Given the description of an element on the screen output the (x, y) to click on. 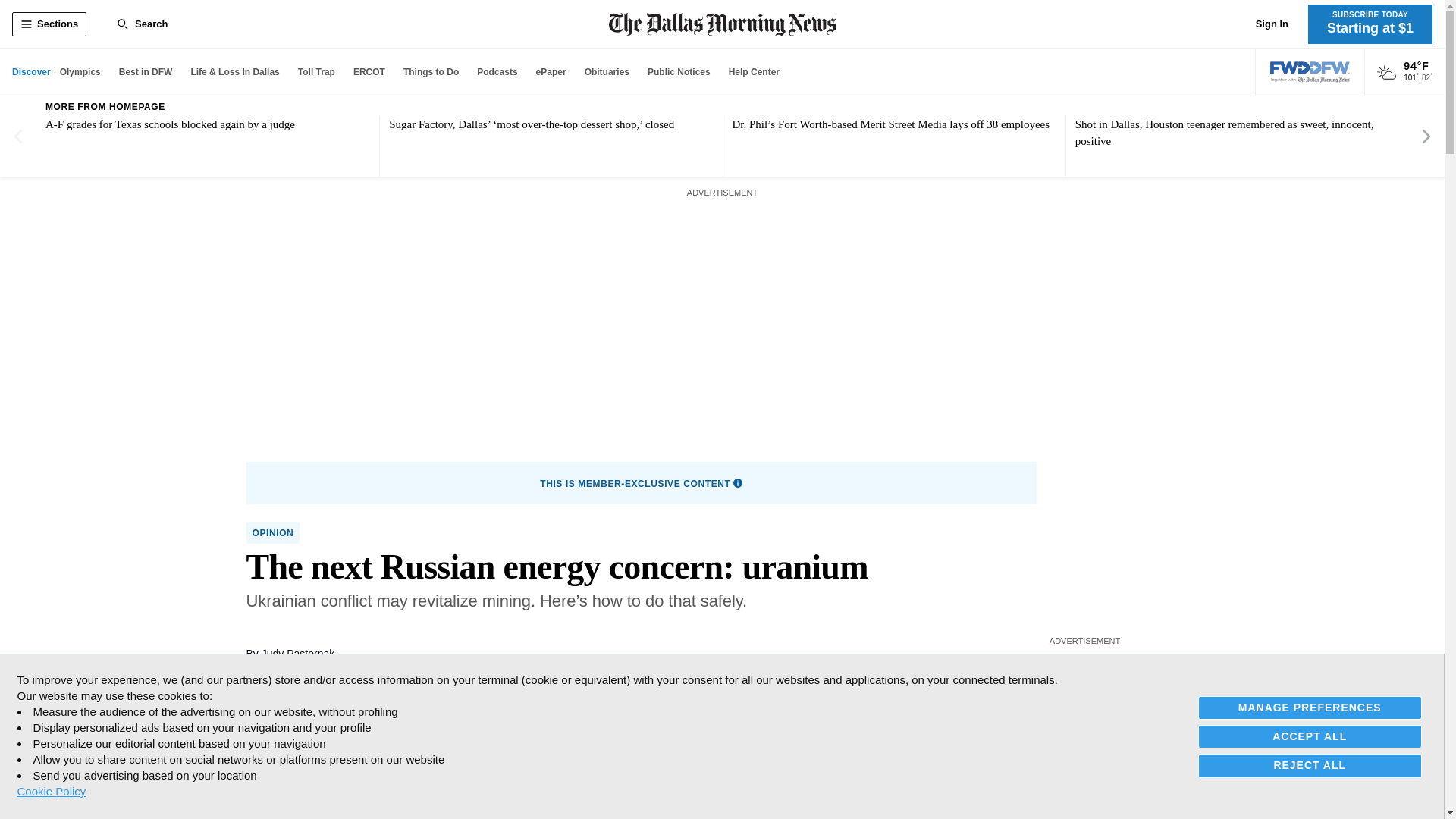
Scattered clouds (1386, 72)
FWD DFW, Together with The Dallas Morning News (1310, 72)
Cookie Policy (50, 790)
ACCEPT ALL (1310, 736)
MANAGE PREFERENCES (1310, 707)
REJECT ALL (1310, 765)
